Given the description of an element on the screen output the (x, y) to click on. 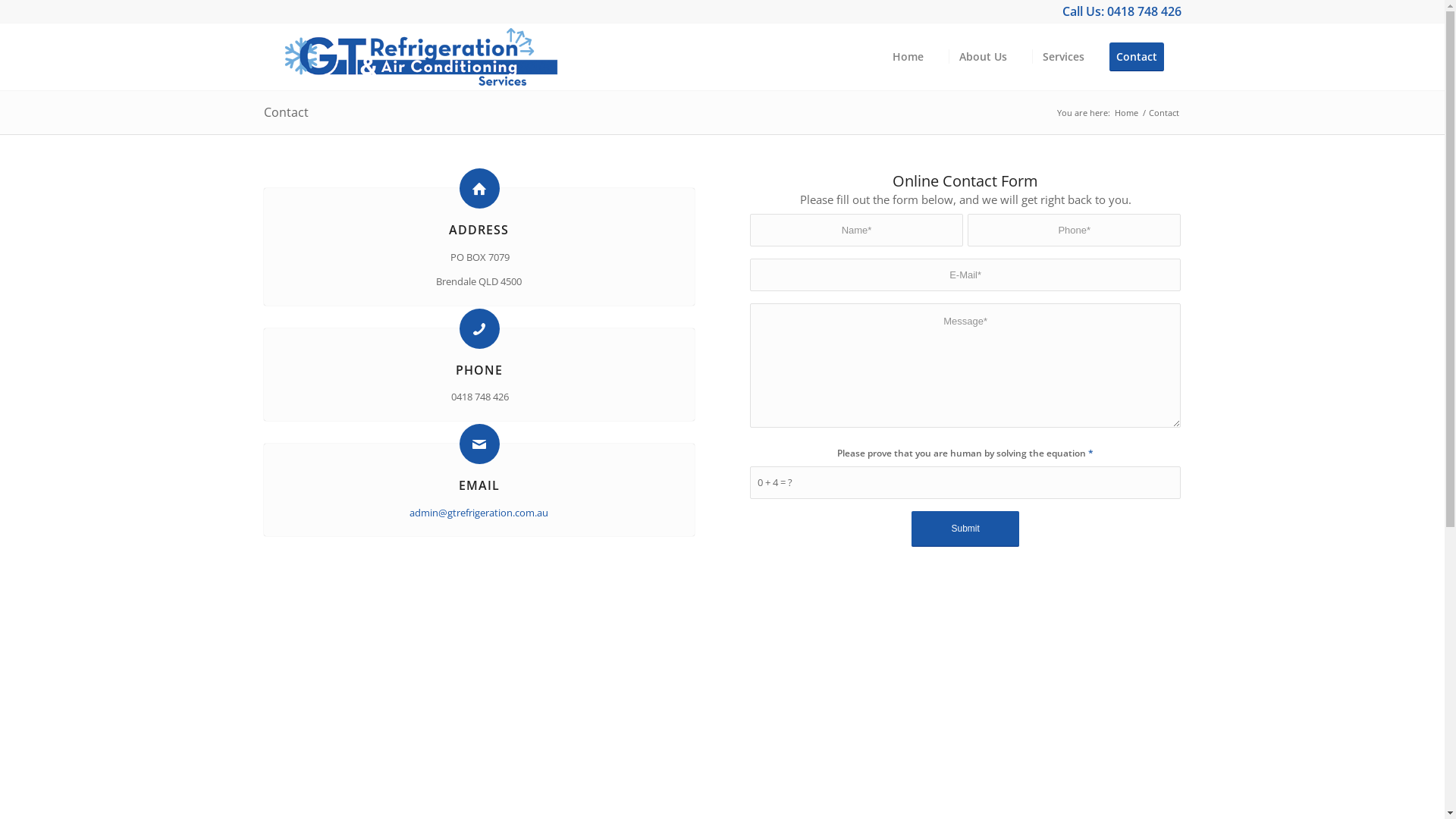
About Us Element type: text (981, 56)
Contact Element type: text (1140, 56)
Submit Element type: text (965, 528)
Contact Element type: text (285, 111)
admin@gtrefrigeration.com.au Element type: text (478, 512)
Home Element type: text (907, 56)
Home Element type: text (1125, 112)
Services Element type: text (1062, 56)
